Given the description of an element on the screen output the (x, y) to click on. 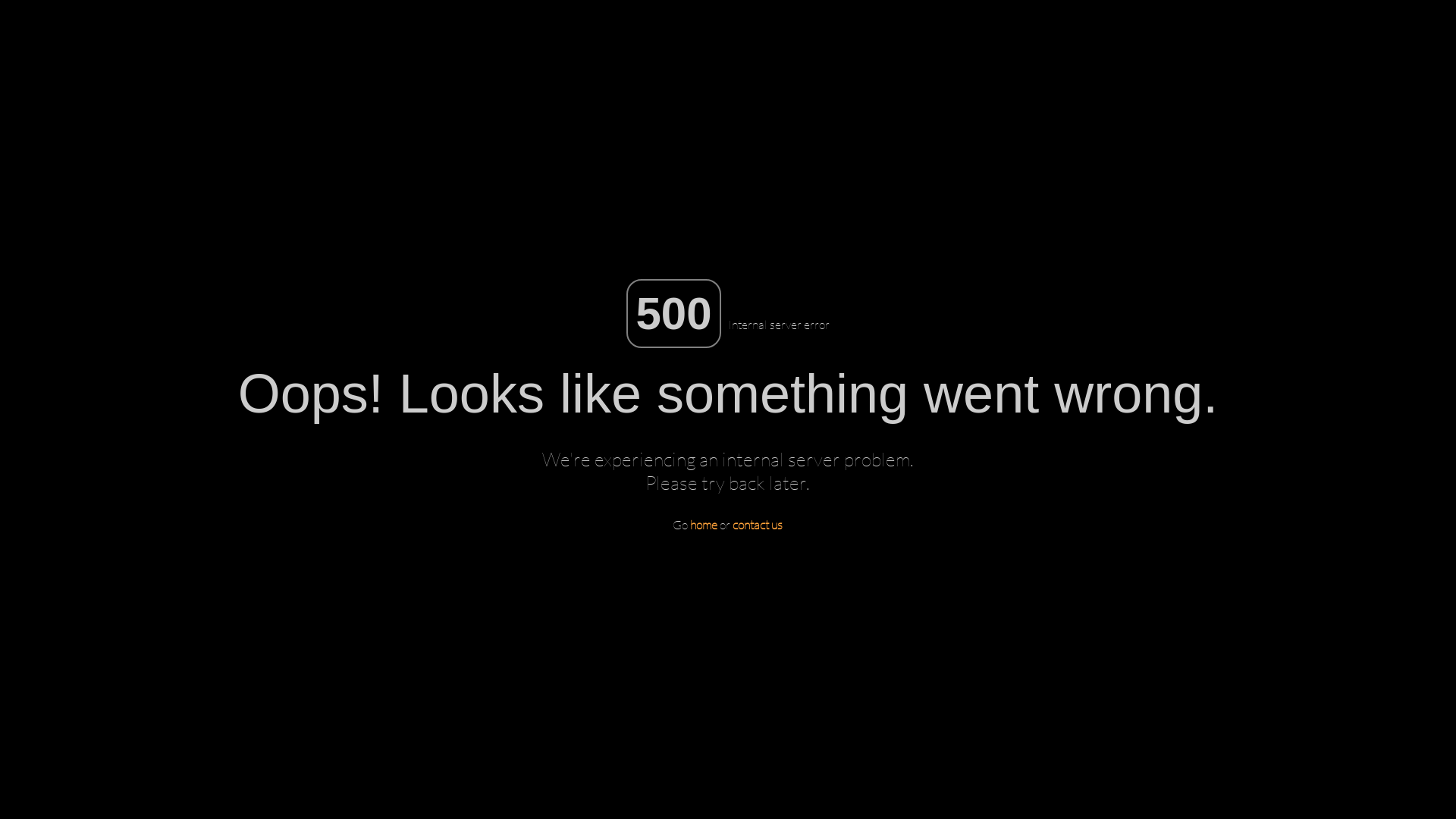
home Element type: text (703, 524)
contact us Element type: text (757, 524)
